Given the description of an element on the screen output the (x, y) to click on. 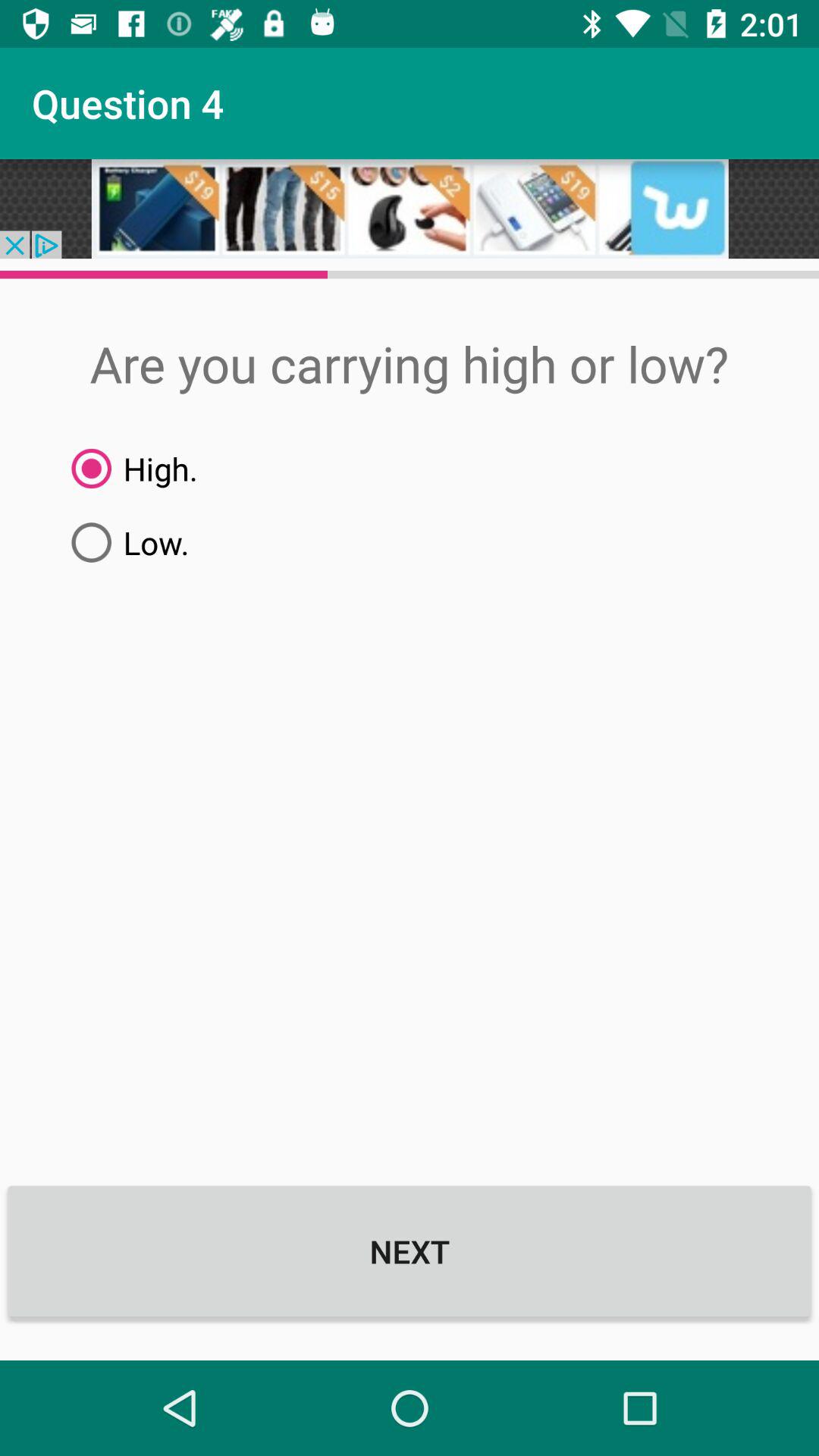
advertisement (409, 208)
